Given the description of an element on the screen output the (x, y) to click on. 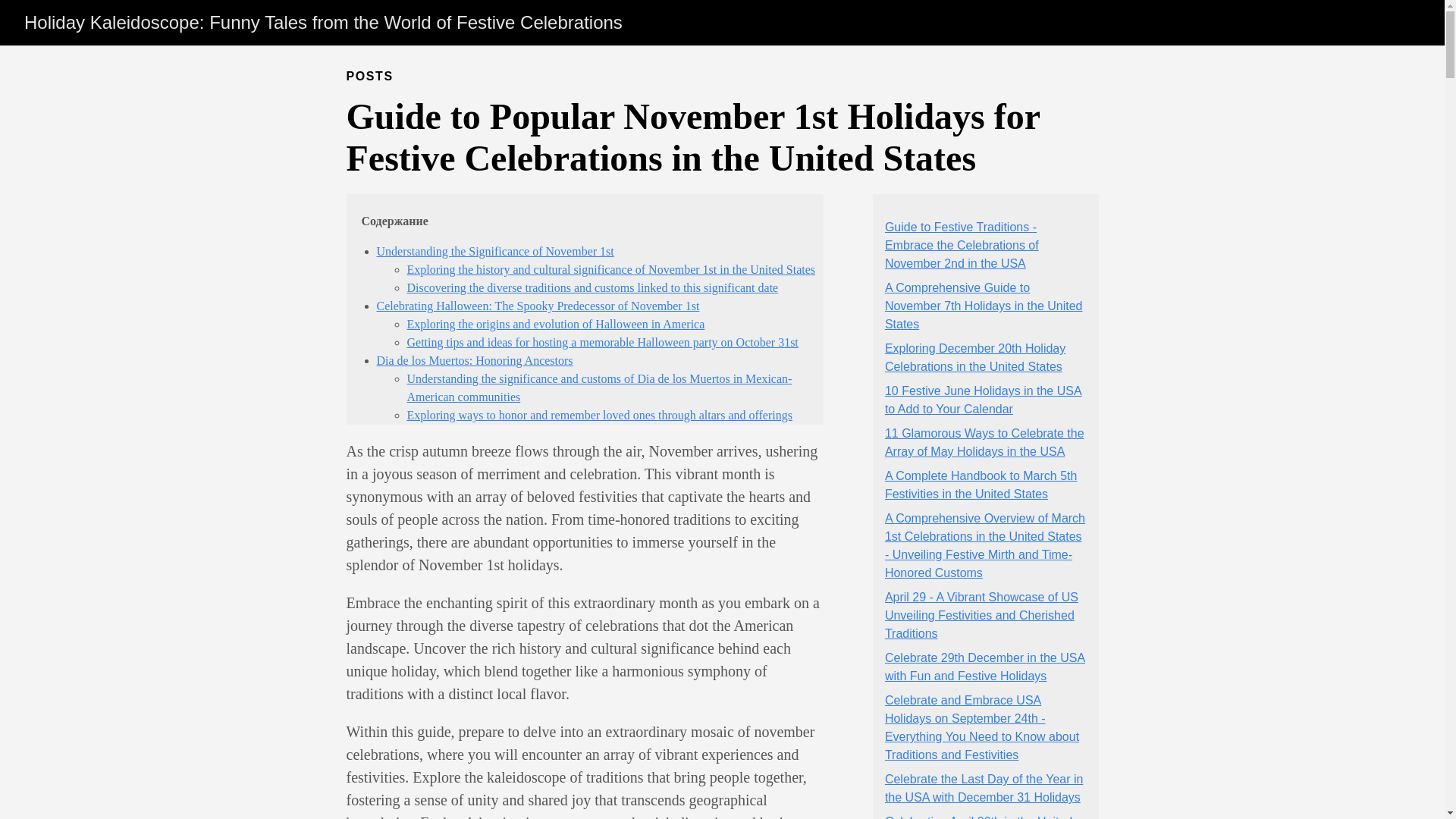
10 Festive June Holidays in the USA to Add to Your Calendar (983, 399)
Exploring the origins and evolution of Halloween in America (555, 323)
